Given the description of an element on the screen output the (x, y) to click on. 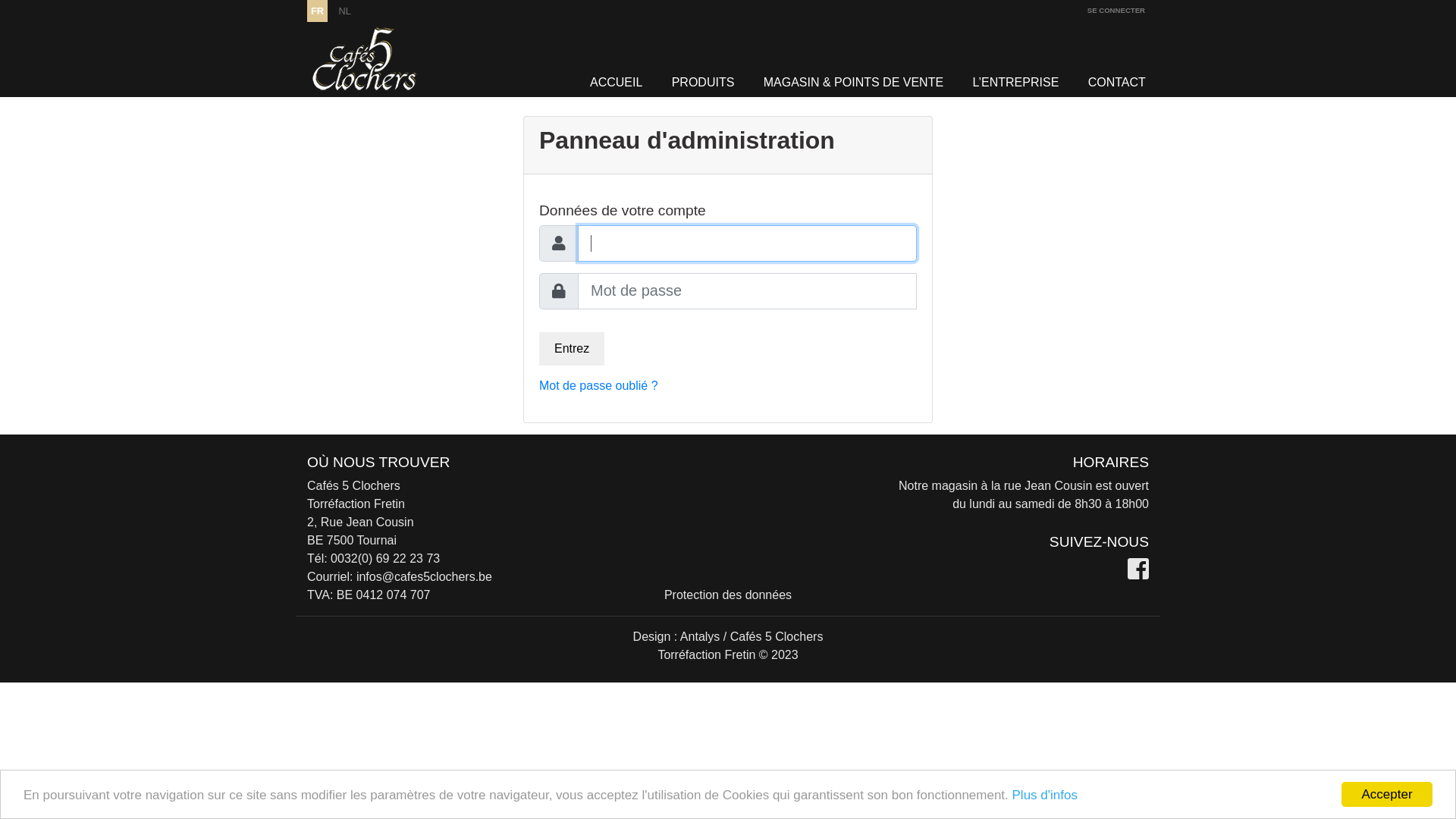
Accepter Element type: text (1386, 793)
Plus d'infos Element type: text (1044, 794)
Entrez Element type: text (571, 348)
NL Element type: text (344, 10)
ACCUEIL Element type: text (615, 82)
infos@cafes5clochers.be Element type: text (424, 576)
Antalys Element type: text (699, 636)
CONTACT Element type: text (1116, 82)
MAGASIN & POINTS DE VENTE Element type: text (853, 82)
SE CONNECTER Element type: text (1115, 10)
PRODUITS Element type: text (702, 82)
